Given the description of an element on the screen output the (x, y) to click on. 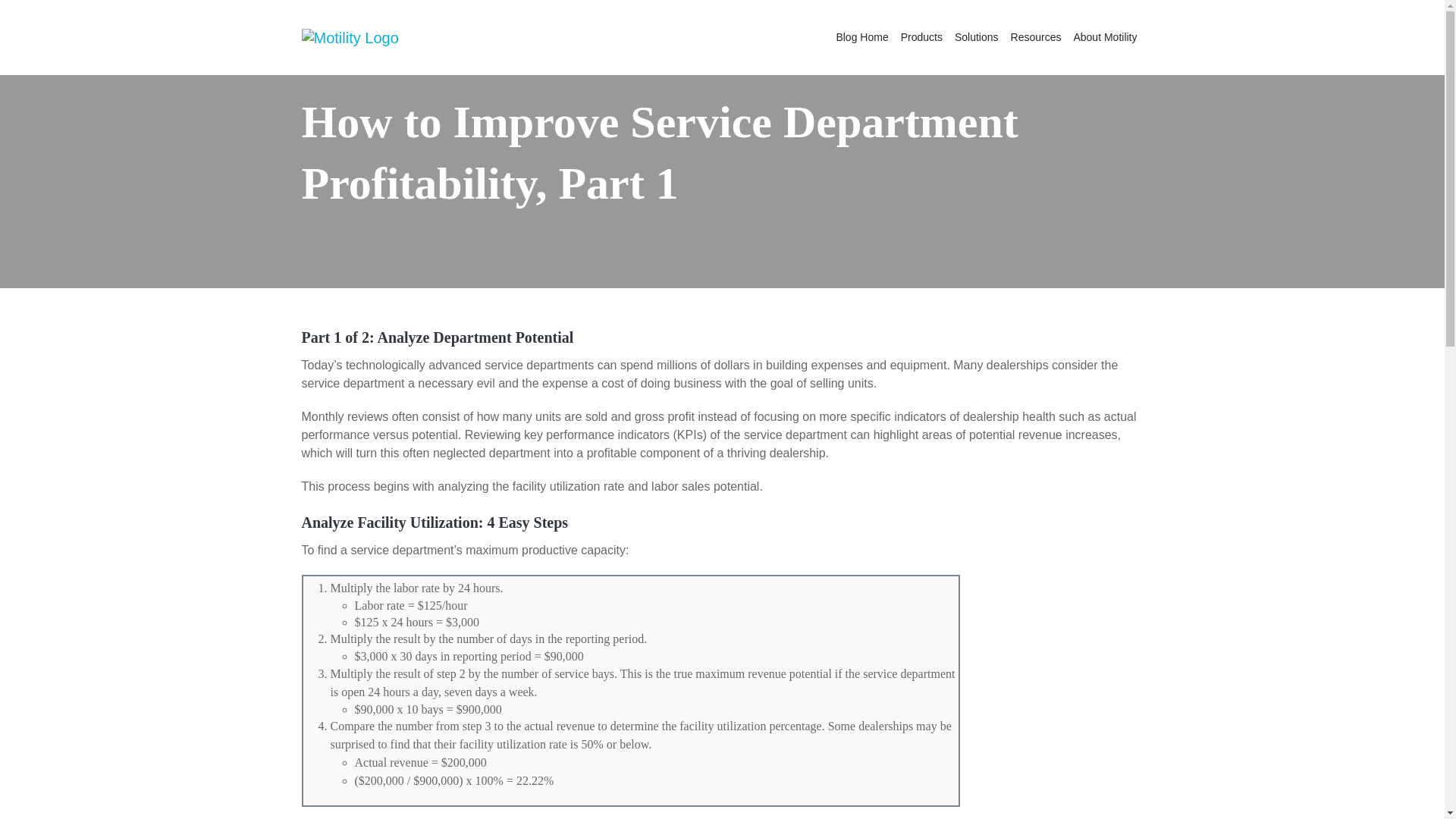
Solutions (976, 36)
Resources (1035, 36)
About Motility (1104, 36)
Blog Home (861, 36)
